Given the description of an element on the screen output the (x, y) to click on. 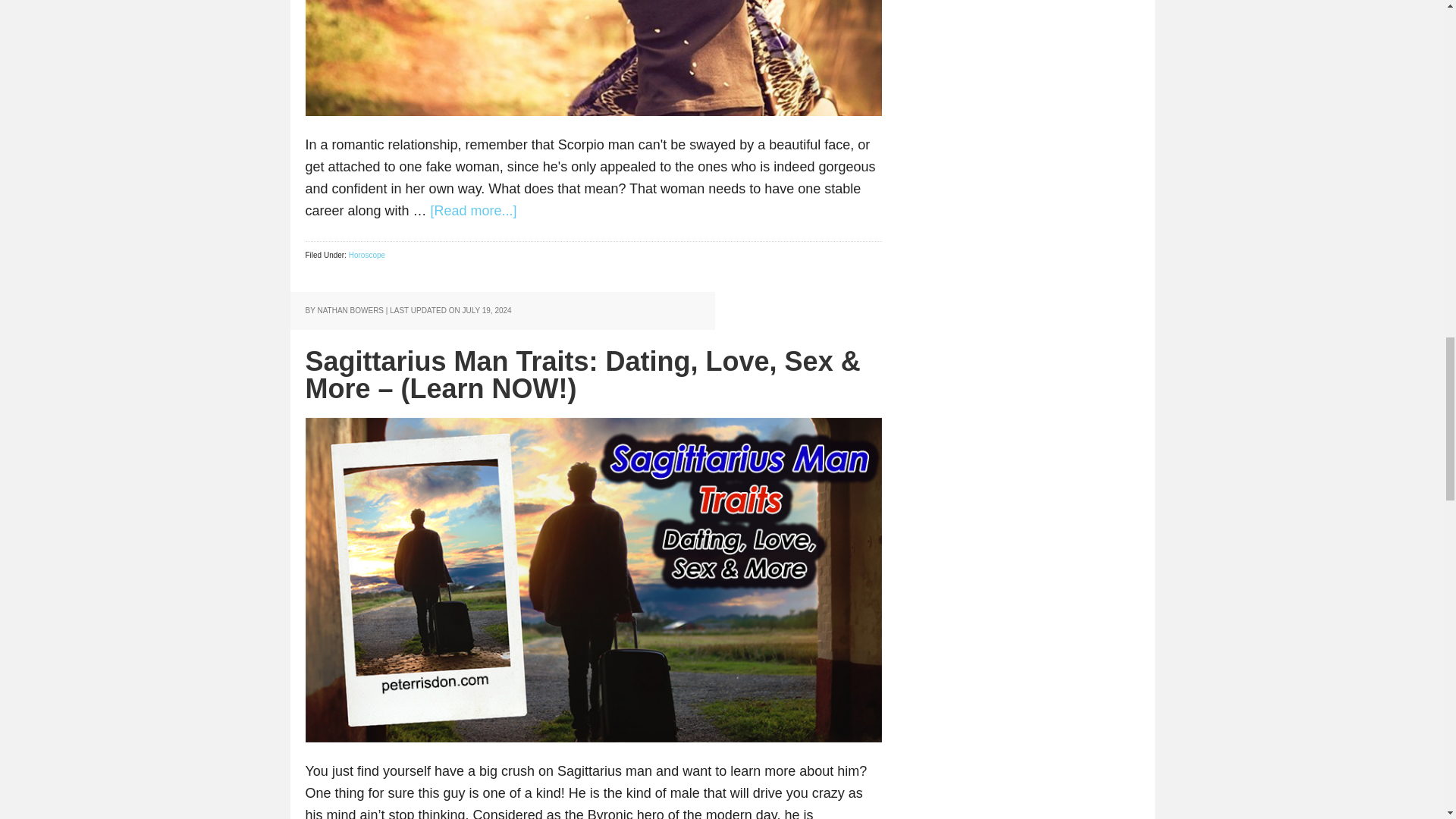
Horoscope (367, 254)
